Given the description of an element on the screen output the (x, y) to click on. 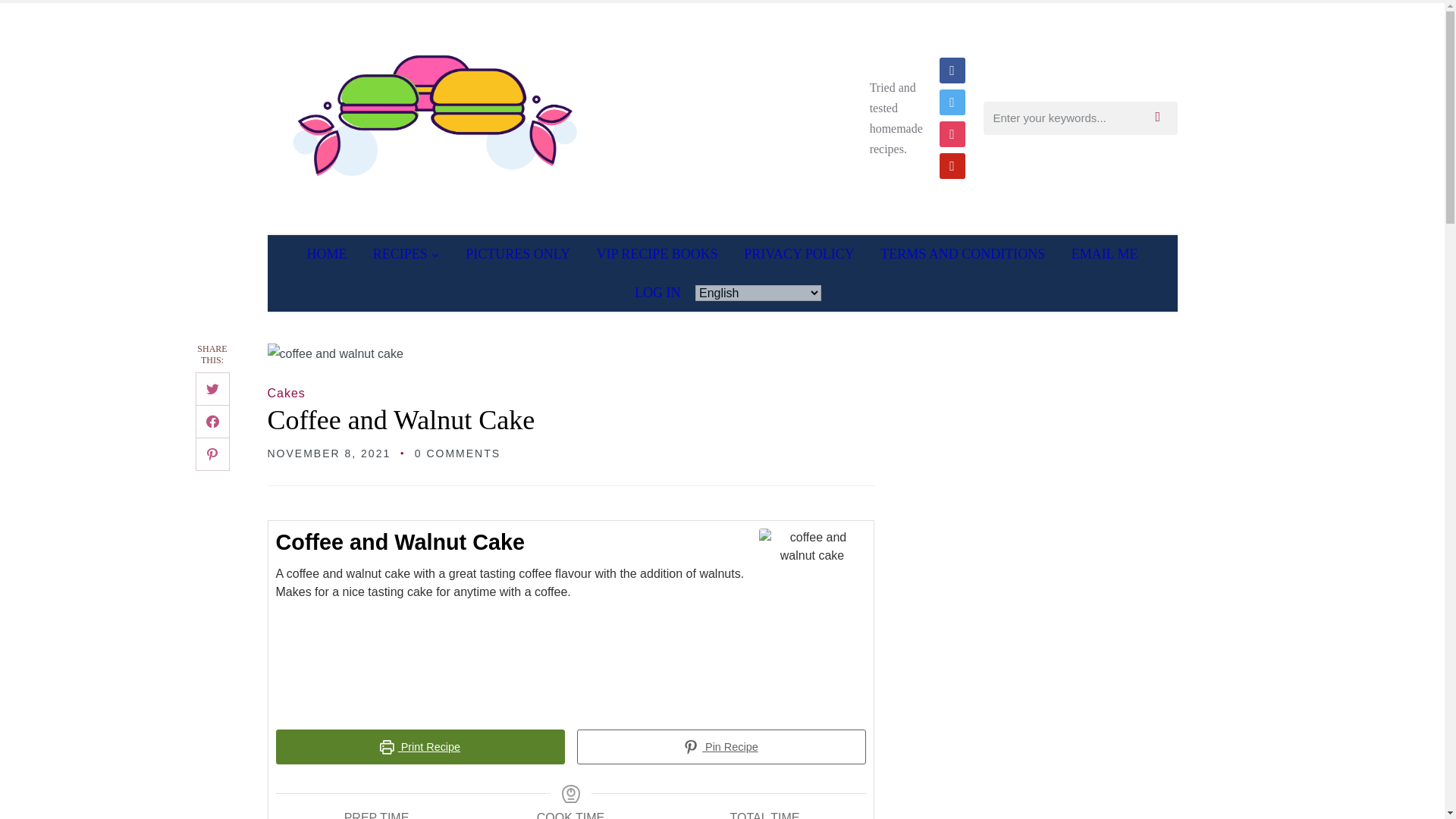
Click to share on Twitter (212, 388)
Default Label (951, 164)
Search (1161, 118)
Search (1161, 118)
facebook (951, 69)
Facebook (951, 69)
twitter (951, 101)
pinterest (951, 164)
Instagram (951, 132)
Click to share on Facebook (212, 421)
instagram (951, 132)
Twitter (951, 101)
Search (1161, 118)
Click to share on Pinterest (212, 453)
